Given the description of an element on the screen output the (x, y) to click on. 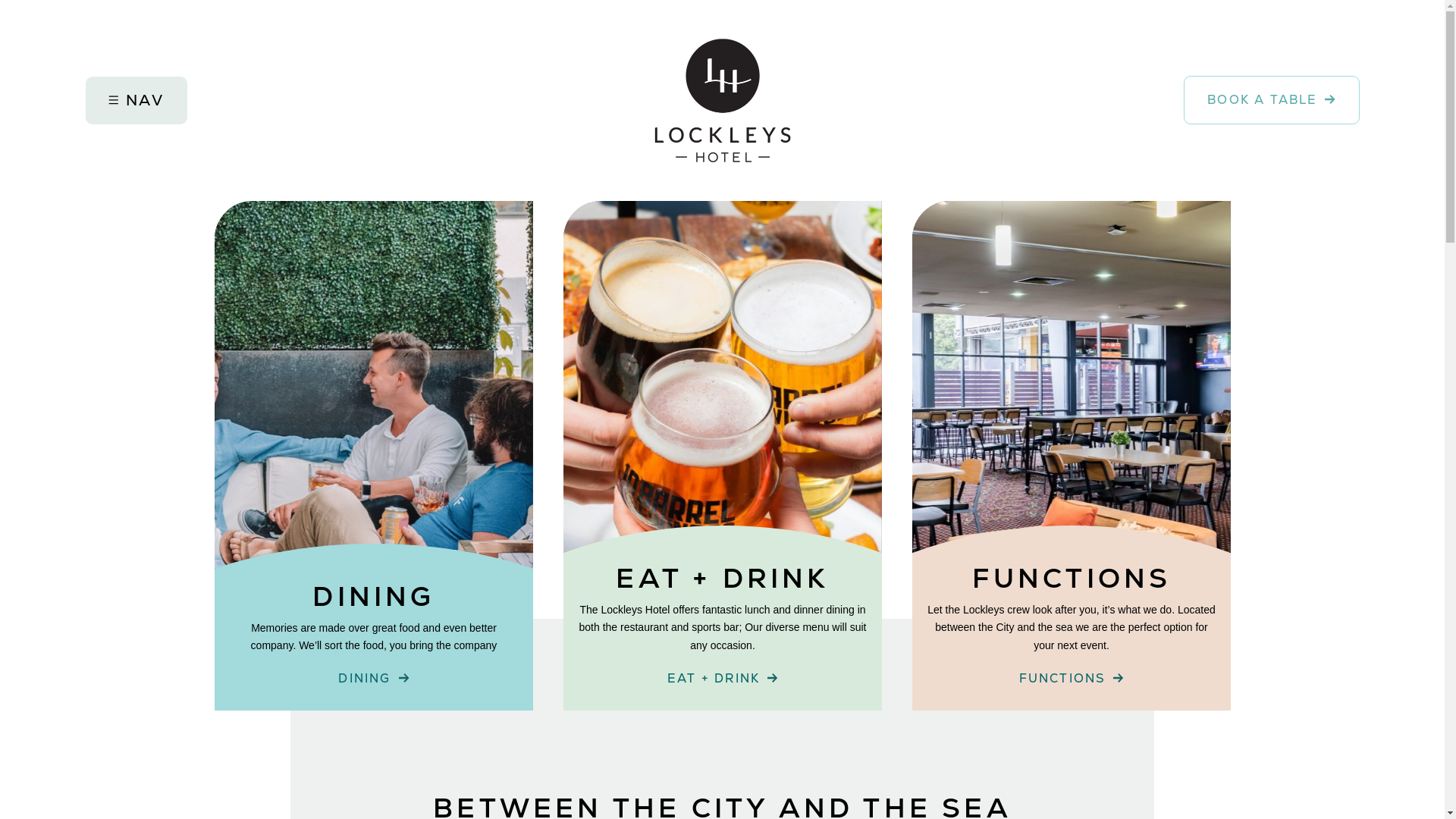
NAV Element type: text (135, 100)
BOOK A TABLE Element type: text (1270, 99)
Lockleys Hotel Element type: text (721, 100)
